Given the description of an element on the screen output the (x, y) to click on. 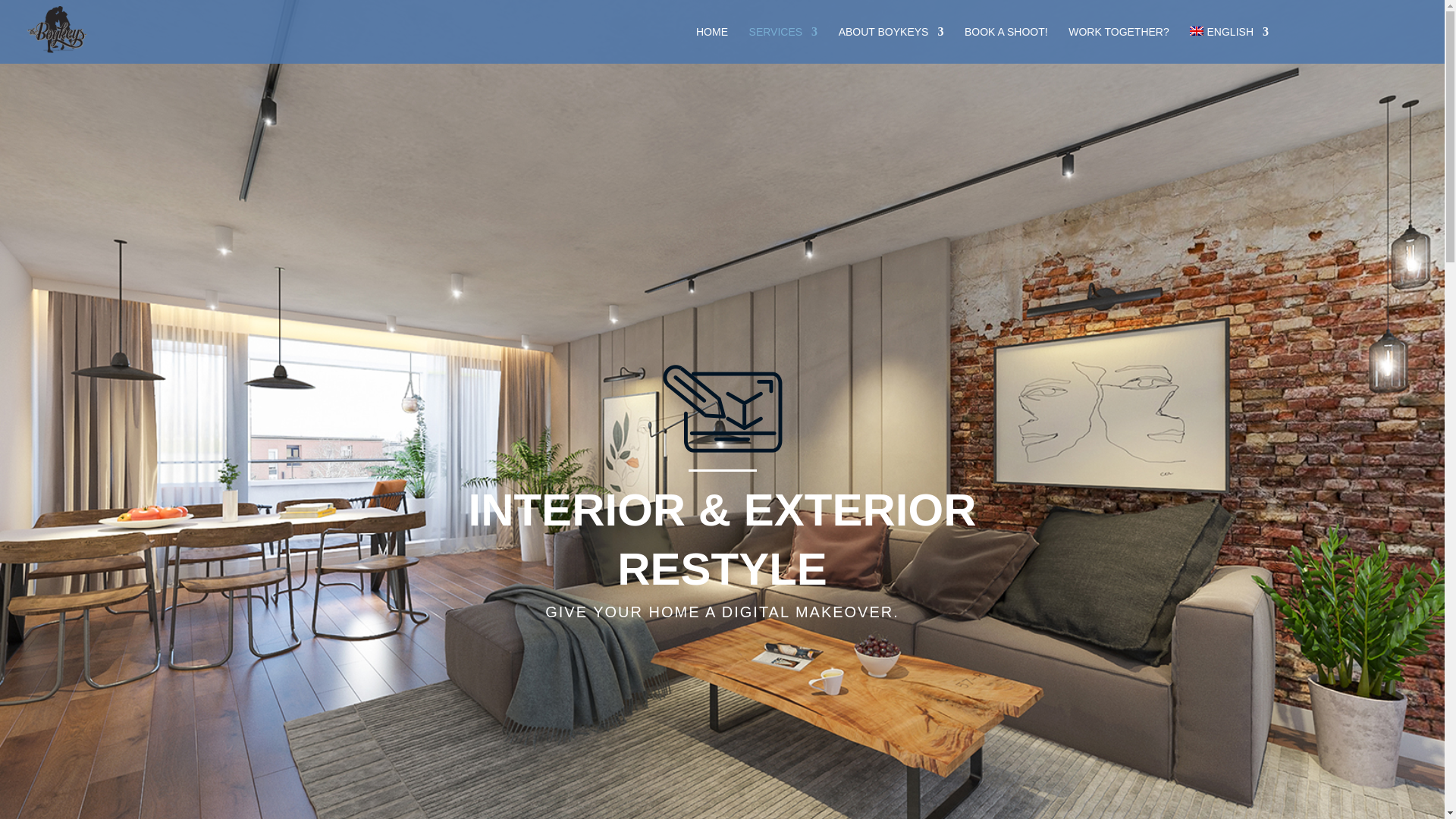
WORK TOGETHER? (1118, 44)
BOOK A SHOOT! (1005, 44)
ENGLISH (1228, 44)
ABOUT BOYKEYS (890, 44)
SERVICES (783, 44)
English (1228, 44)
